Given the description of an element on the screen output the (x, y) to click on. 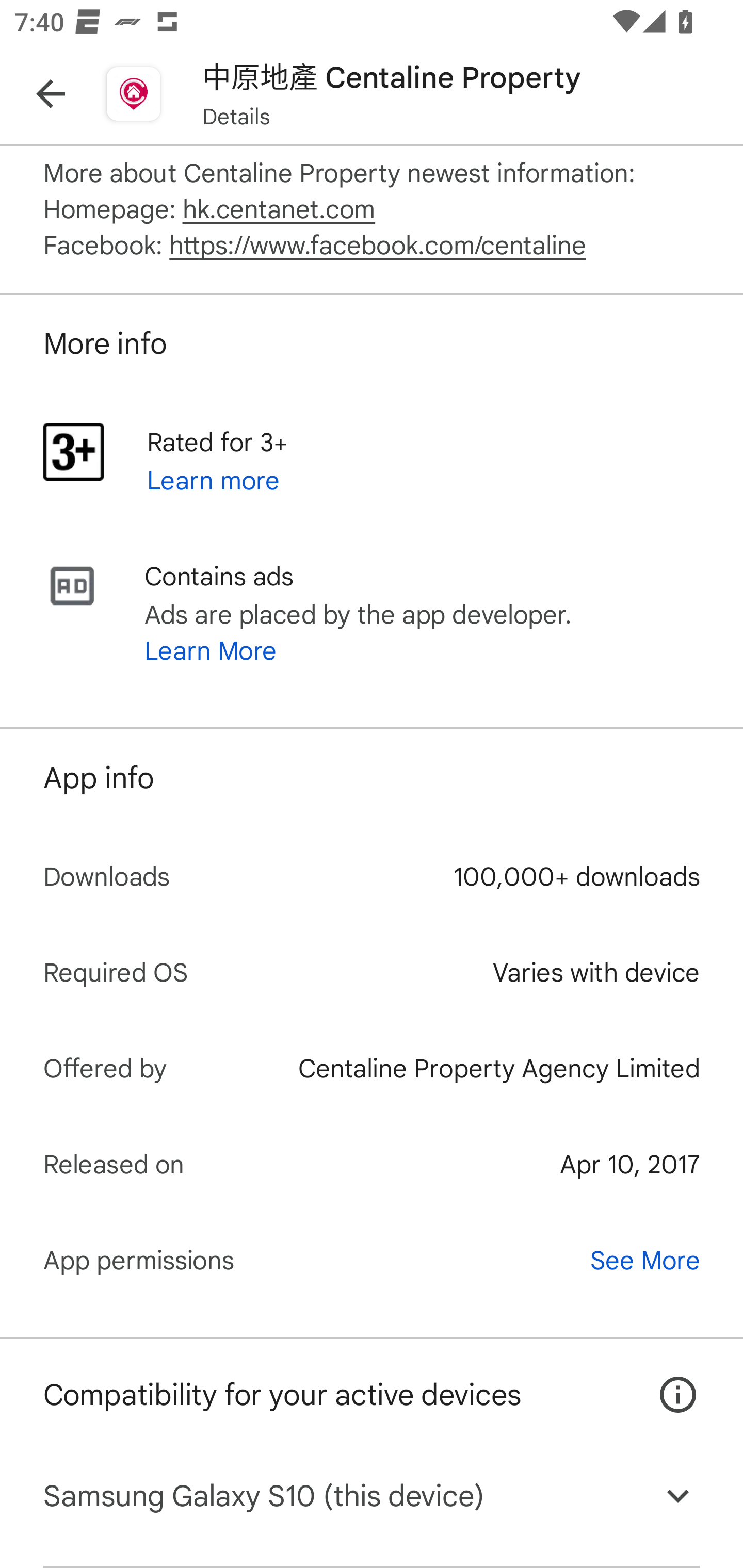
Navigate up (50, 93)
App permissions See More (371, 1259)
How this App works on your devices. (666, 1380)
Samsung Galaxy S10 (this device) Expand (371, 1495)
Expand (677, 1495)
